Given the description of an element on the screen output the (x, y) to click on. 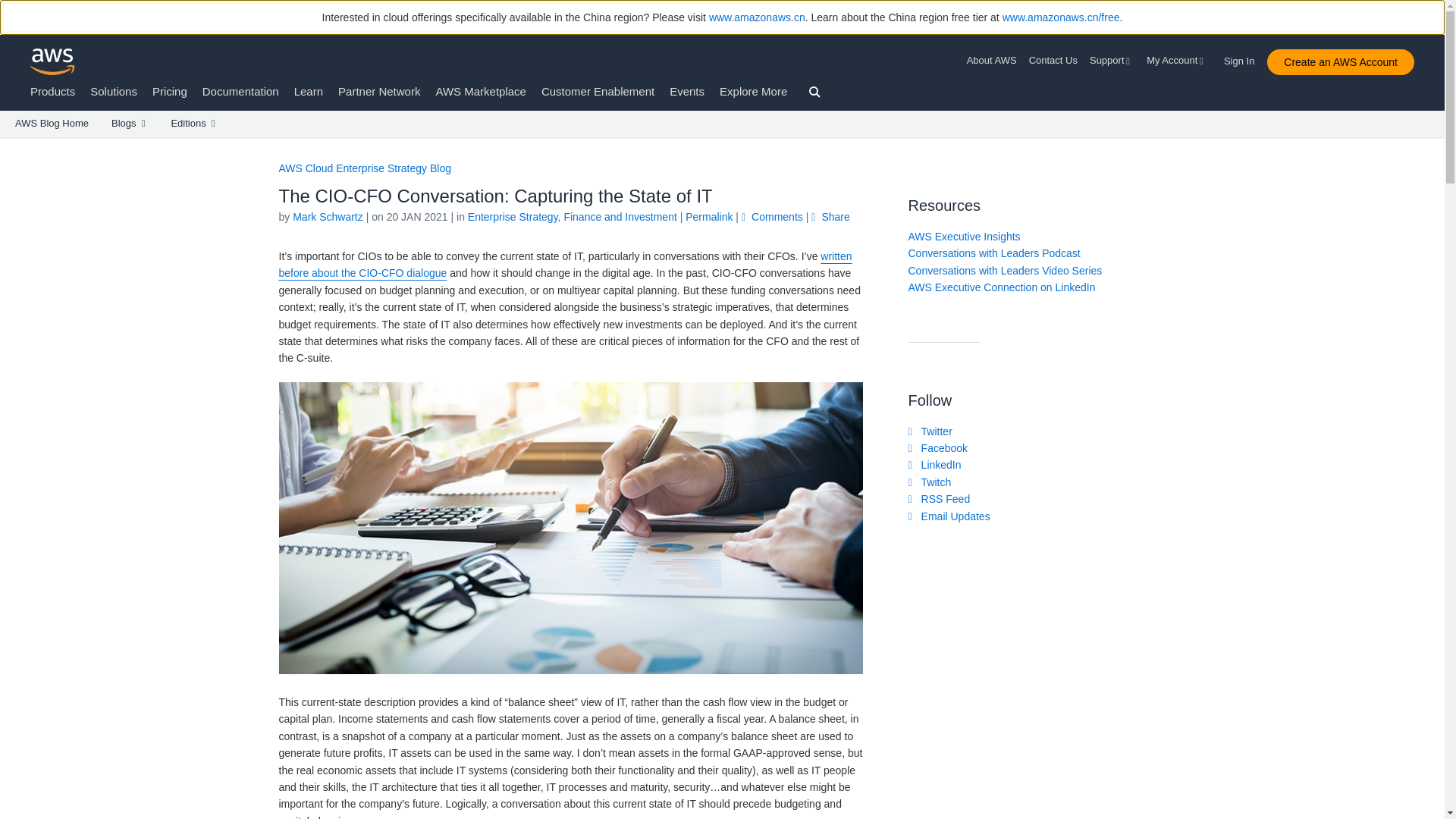
Support  (1111, 60)
AWS Marketplace (480, 91)
Products (52, 91)
Create an AWS Account (1339, 62)
www.amazonaws.cn (757, 17)
Click here to return to Amazon Web Services homepage (52, 61)
Contact Us (1053, 60)
Customer Enablement (597, 91)
Sign In (1243, 58)
View all posts in Finance and Investment (620, 216)
Explore More (753, 91)
Posts by Mark Schwartz (327, 216)
Partner Network (378, 91)
Learn (308, 91)
About AWS (994, 60)
